Given the description of an element on the screen output the (x, y) to click on. 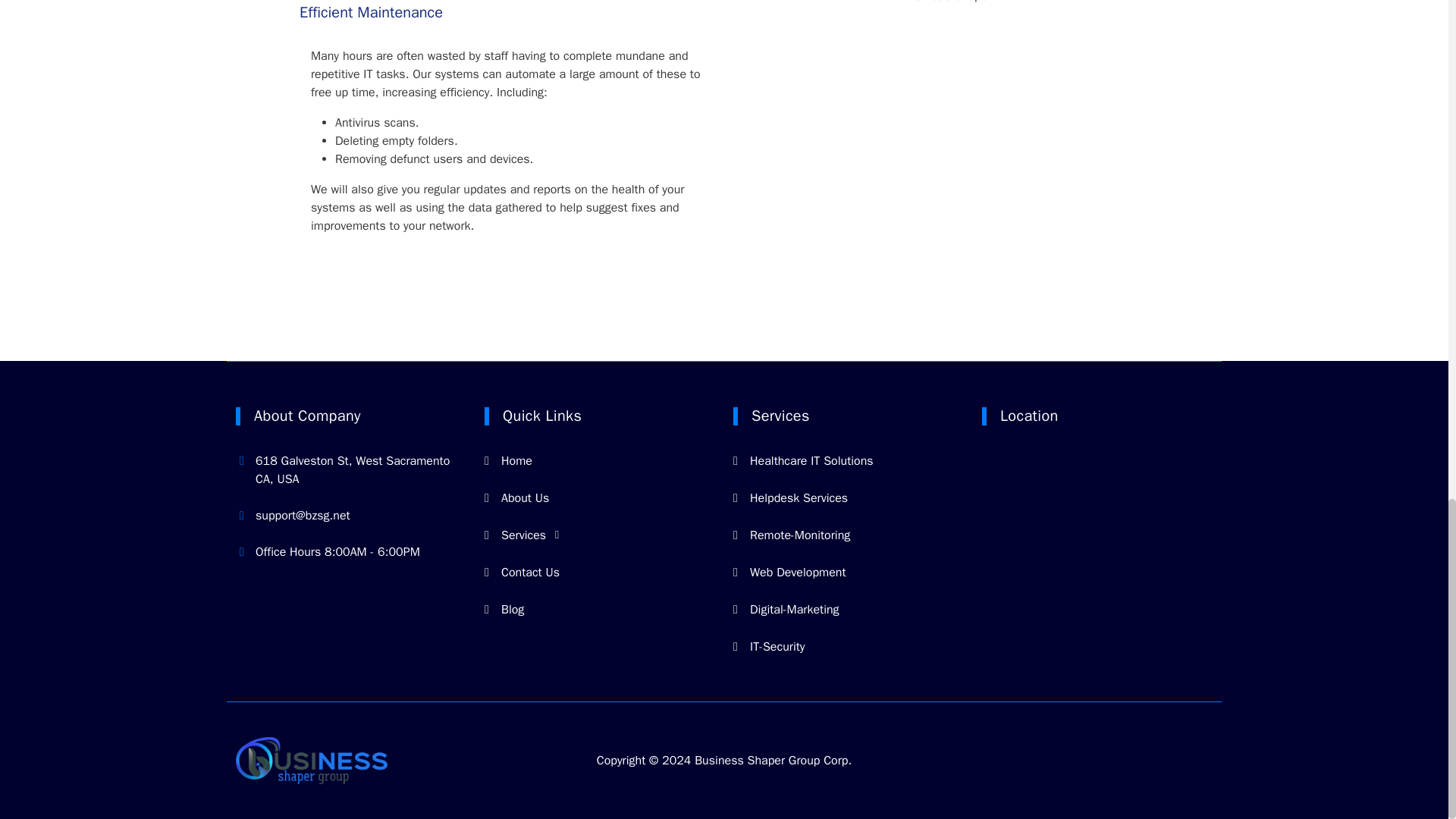
Services (521, 535)
About Us (516, 497)
Home (508, 461)
